Given the description of an element on the screen output the (x, y) to click on. 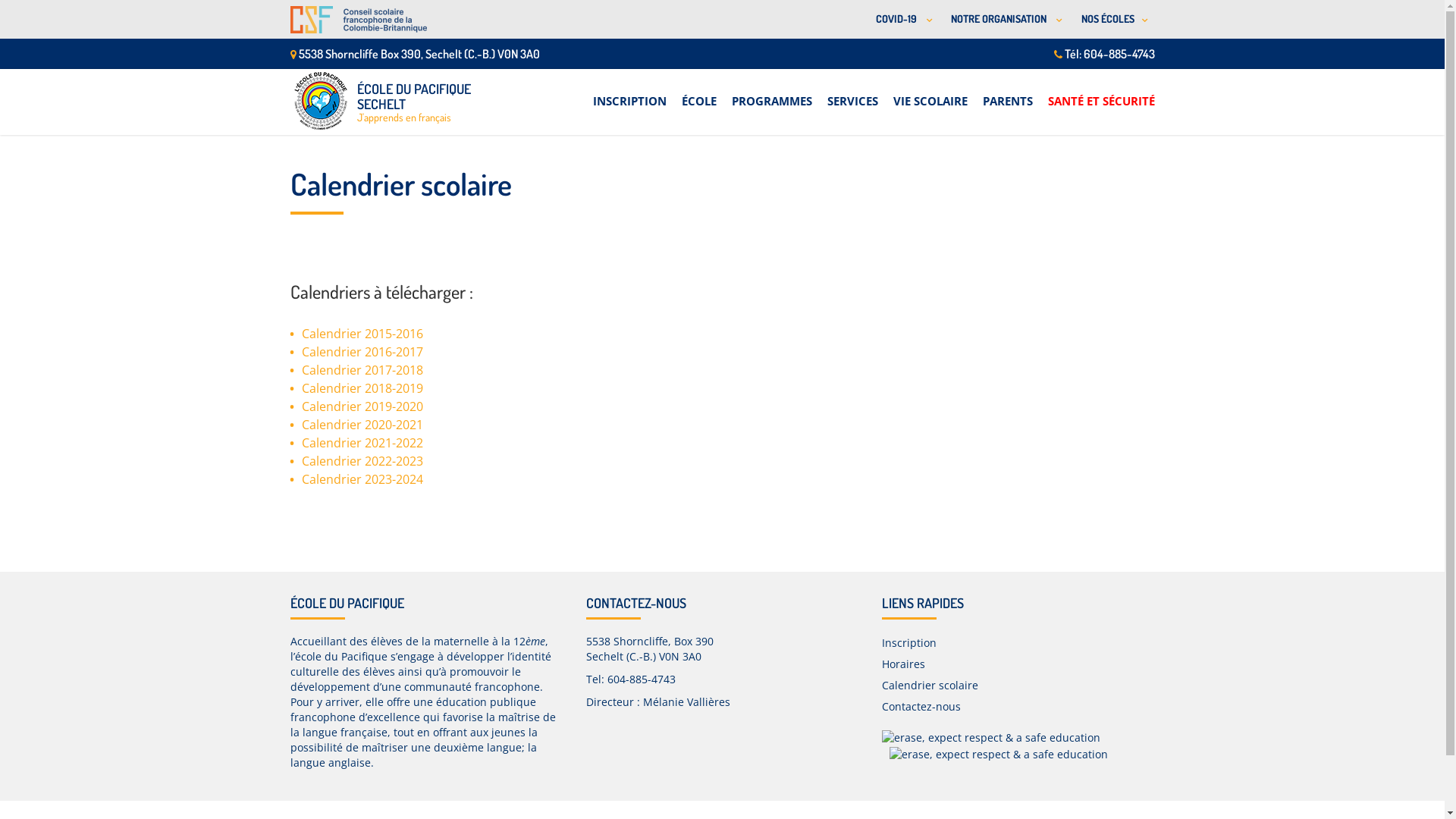
Calendrier 2017-2018 Element type: text (362, 369)
NOTRE ORGANISATION  Element type: text (1004, 19)
Calendrier 2023-2024 Element type: text (362, 478)
Calendrier 2016-2017 Element type: text (362, 351)
COVID-19  Element type: text (900, 19)
Calendrier 2022-2023 Element type: text (362, 460)
PROGRAMMES Element type: text (771, 92)
Calendrier 2015-2016 Element type: text (362, 333)
Inscription Element type: text (908, 642)
Calendrier 2020-2021 Element type: text (362, 424)
SERVICES Element type: text (851, 92)
VIE SCOLAIRE Element type: text (930, 92)
Calendrier scolaire Element type: text (929, 684)
Calendrier 2018-2019 Element type: text (362, 387)
Contactez-nous Element type: text (920, 706)
PARENTS Element type: text (1007, 92)
INSCRIPTION Element type: text (629, 92)
Horaires Element type: text (902, 663)
Calendrier 2021-2022 Element type: text (362, 442)
Calendrier 2019-2020 Element type: text (362, 406)
